Given the description of an element on the screen output the (x, y) to click on. 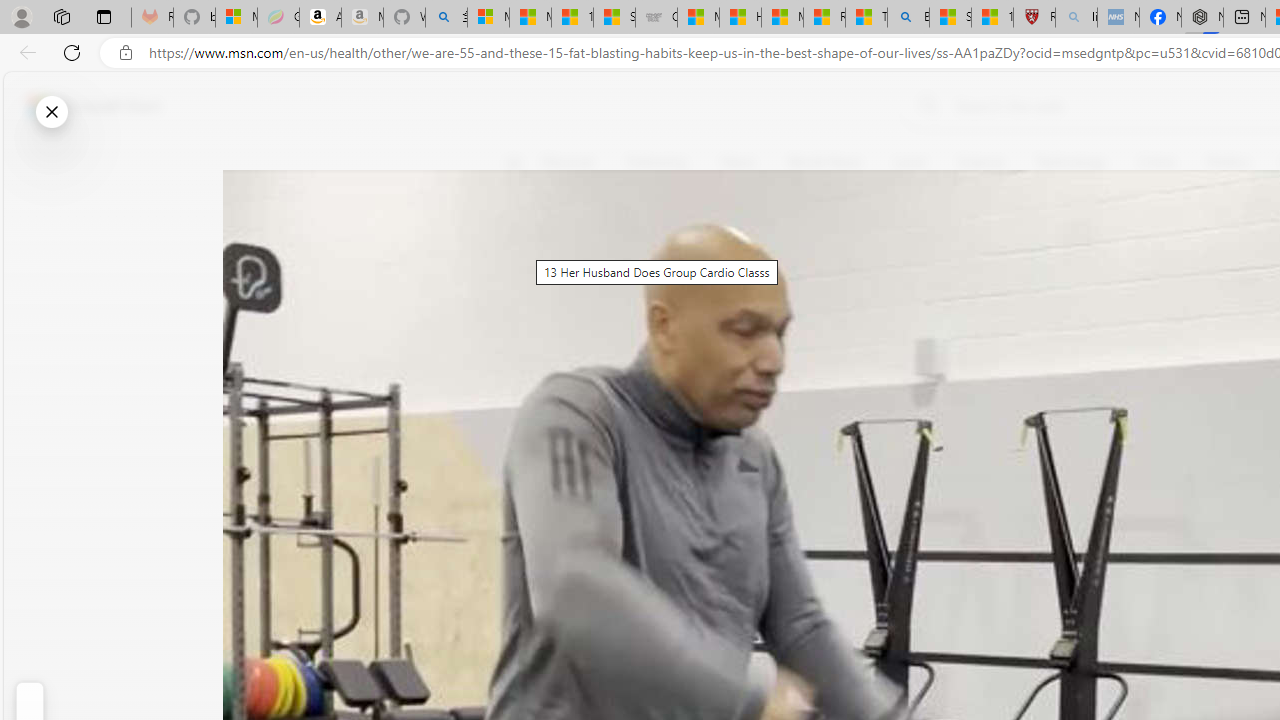
Share this story (525, 412)
Body Network (788, 259)
How I Got Rid of Microsoft Edge's Unnecessary Features (740, 17)
